Given the description of an element on the screen output the (x, y) to click on. 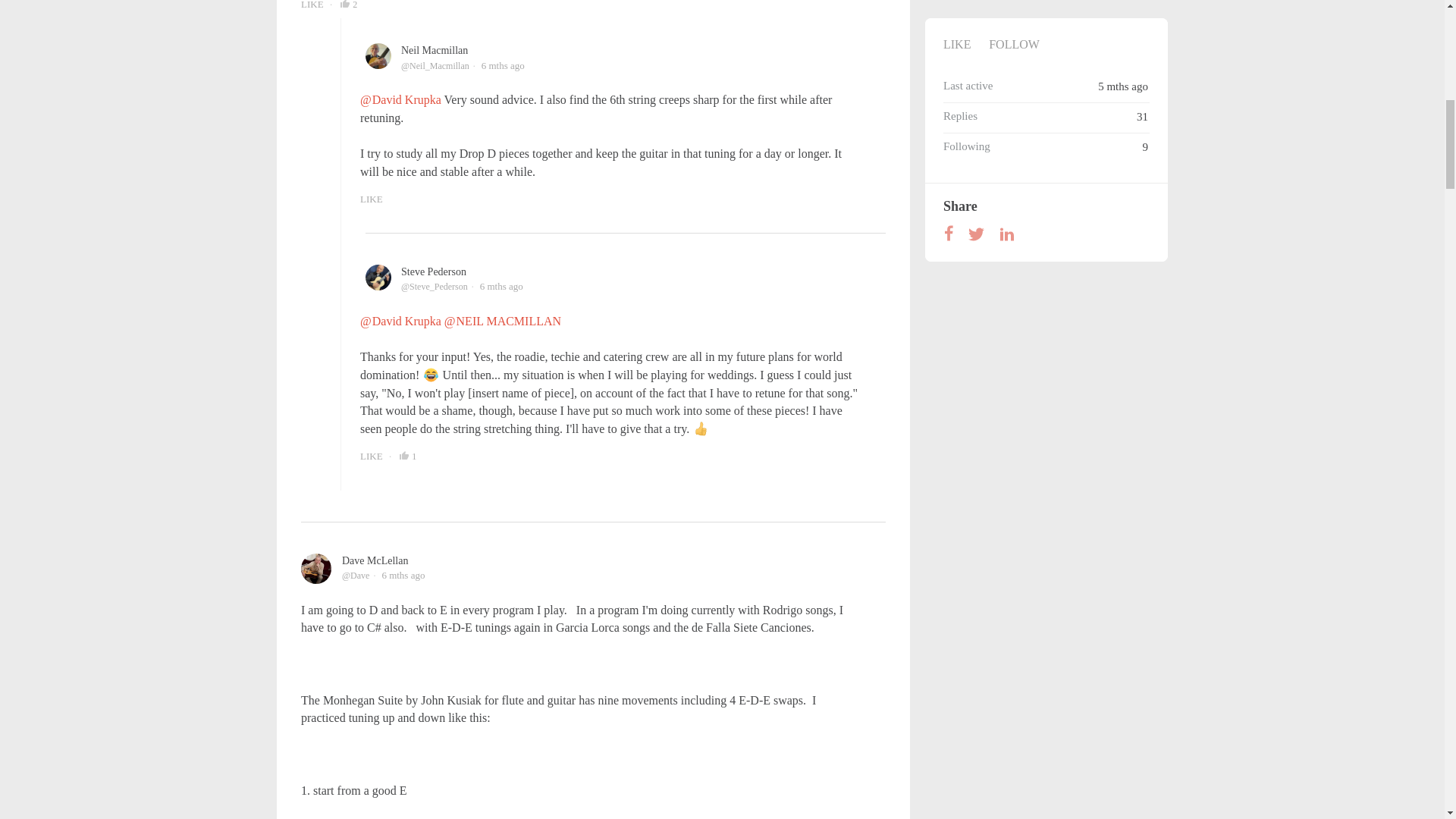
Steve Pederson (433, 271)
Neil Macmillan (434, 50)
Dave McLellan (374, 560)
